Given the description of an element on the screen output the (x, y) to click on. 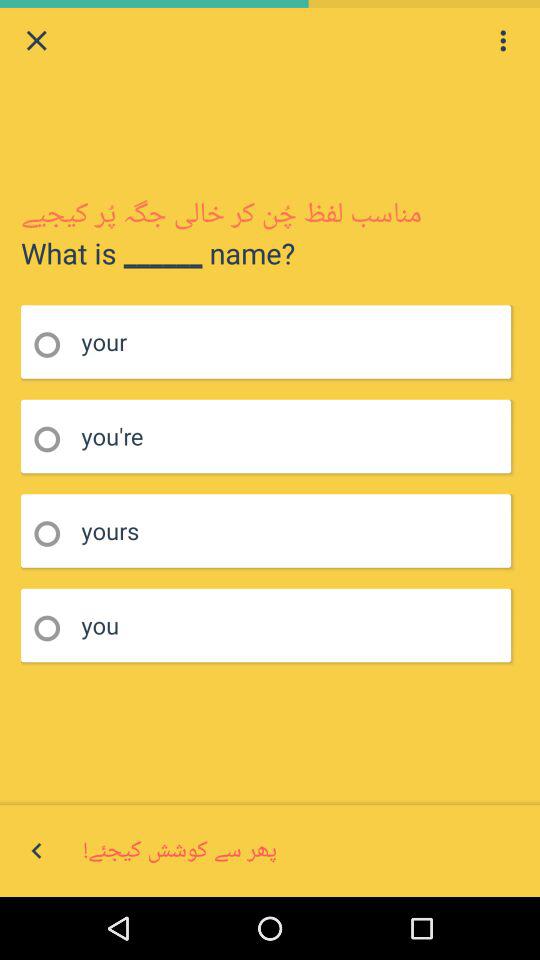
select option (53, 533)
